Given the description of an element on the screen output the (x, y) to click on. 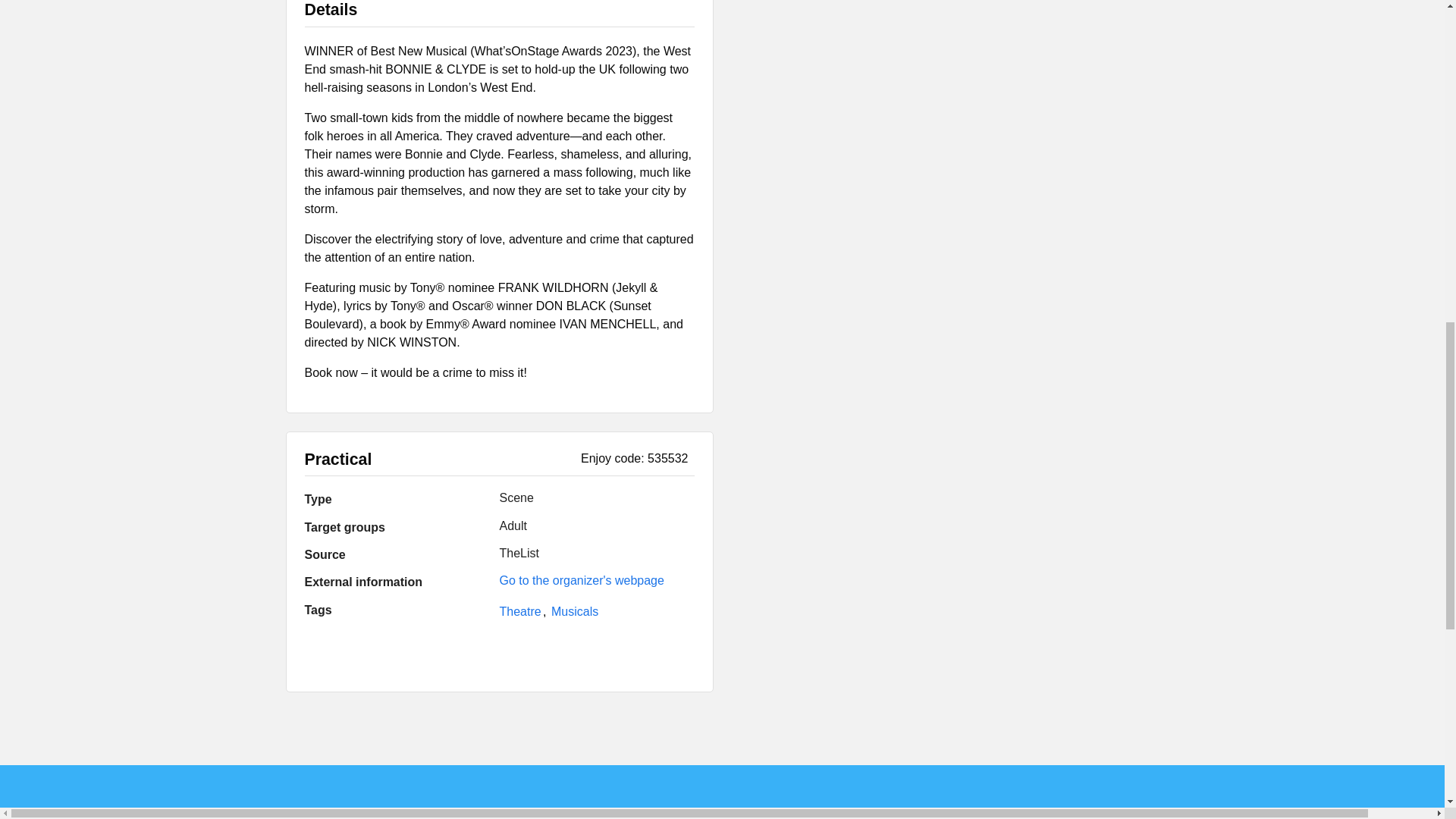
Activities tagged withTheatre (521, 611)
Theatre (521, 611)
Musicals (574, 611)
Activities tagged withMusicals (574, 611)
Go to the organizer's webpage (581, 580)
